Given the description of an element on the screen output the (x, y) to click on. 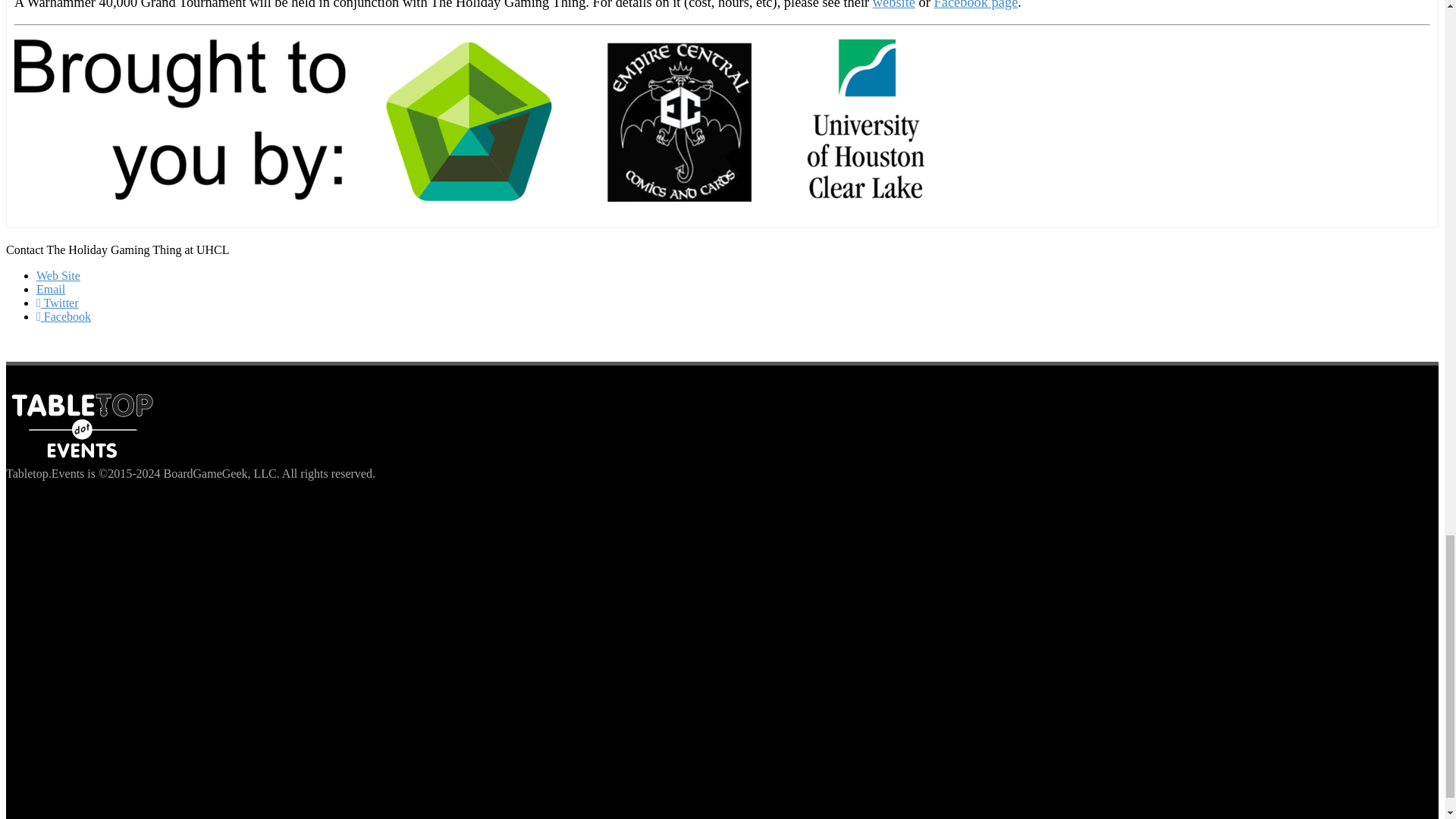
Facebook page (975, 4)
Facebook (63, 316)
Tabletop.Events Logo (81, 426)
Email (50, 288)
Web Site (58, 275)
Twitter (57, 302)
Follow The Holiday Gaming Thing at UHCL on Twitter (57, 302)
website (893, 4)
Follow The Holiday Gaming Thing at UHCL on Facebook (63, 316)
